Given the description of an element on the screen output the (x, y) to click on. 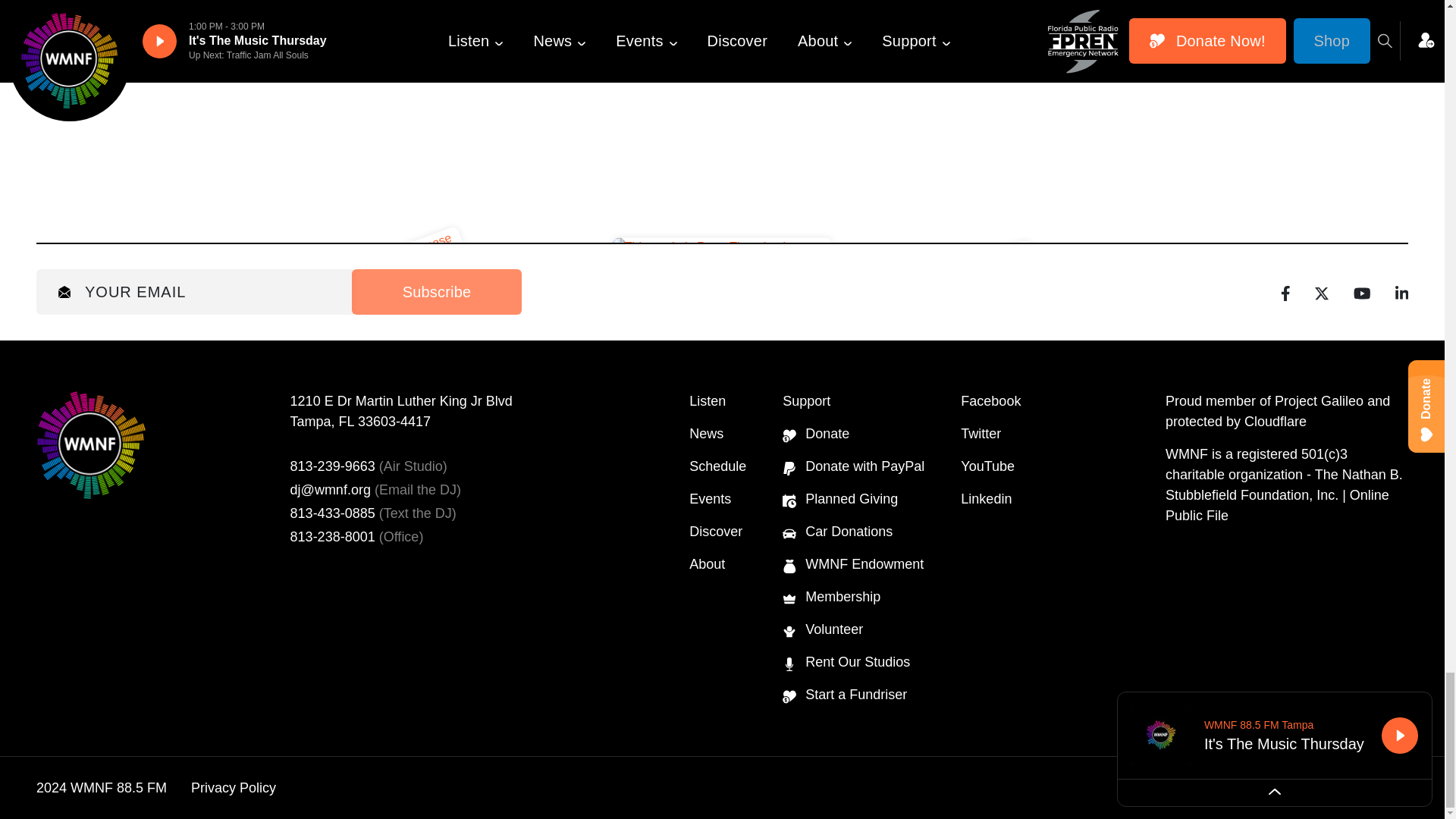
Subscribe (436, 291)
